Given the description of an element on the screen output the (x, y) to click on. 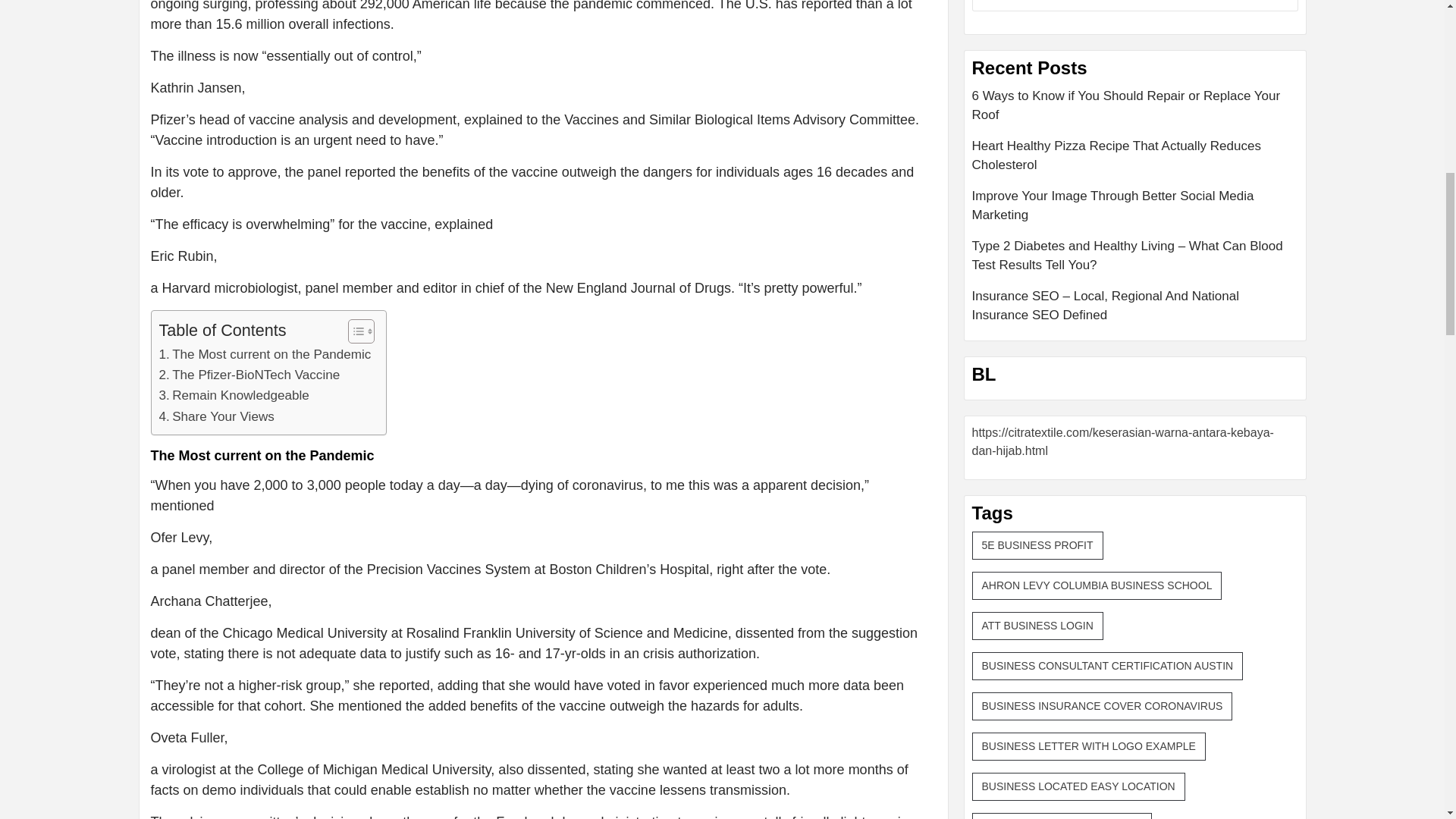
The Pfizer-BioNTech Vaccine (249, 374)
Share Your Views (216, 416)
Remain Knowledgeable (233, 394)
Remain Knowledgeable (233, 394)
The Pfizer-BioNTech Vaccine (249, 374)
The Most current on the Pandemic (264, 353)
Share Your Views (216, 416)
The Most current on the Pandemic (264, 353)
